Given the description of an element on the screen output the (x, y) to click on. 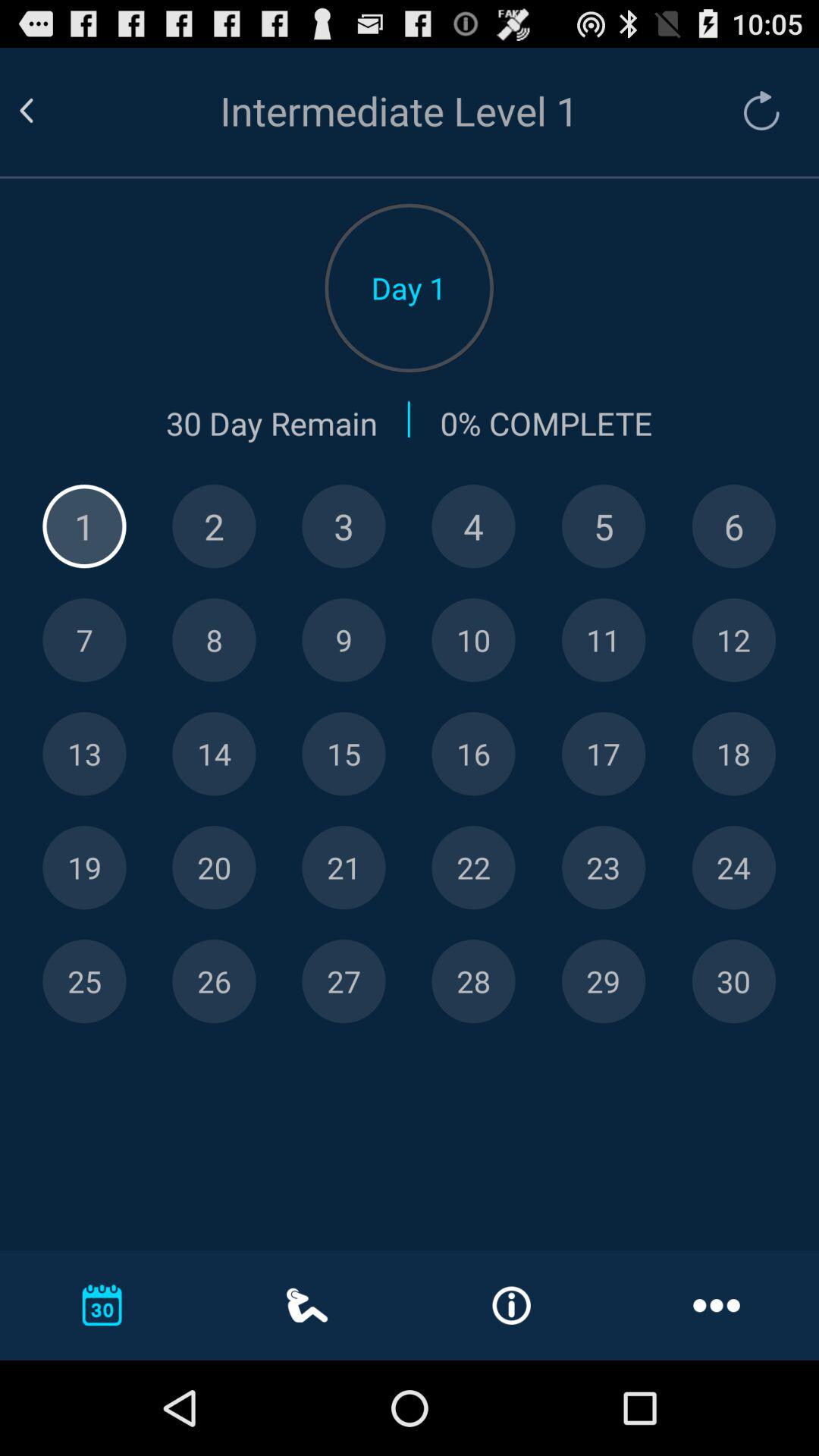
number 3 (343, 526)
